Given the description of an element on the screen output the (x, y) to click on. 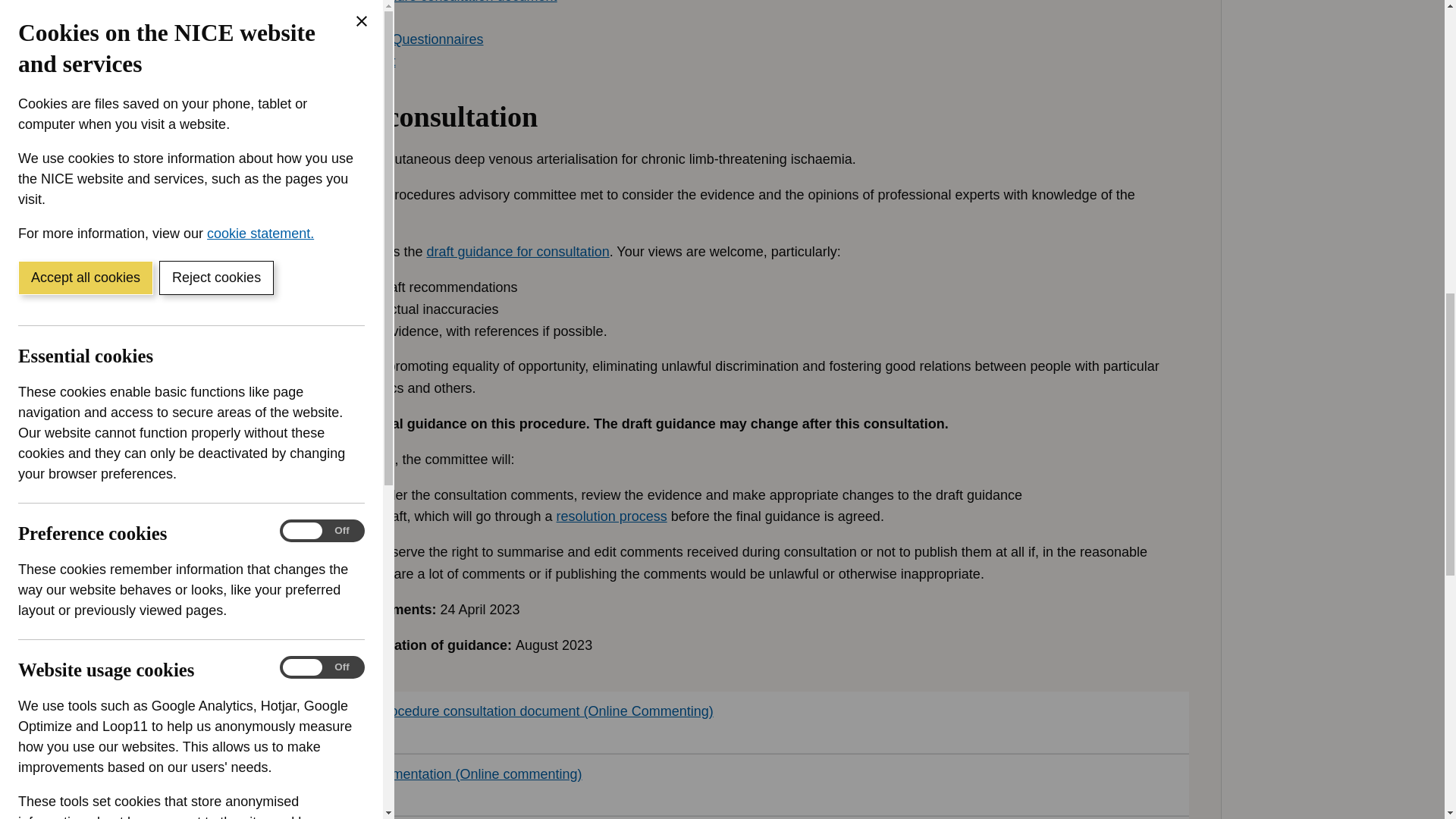
Show vendors within this category (130, 427)
Show vendors within this category (130, 63)
